Given the description of an element on the screen output the (x, y) to click on. 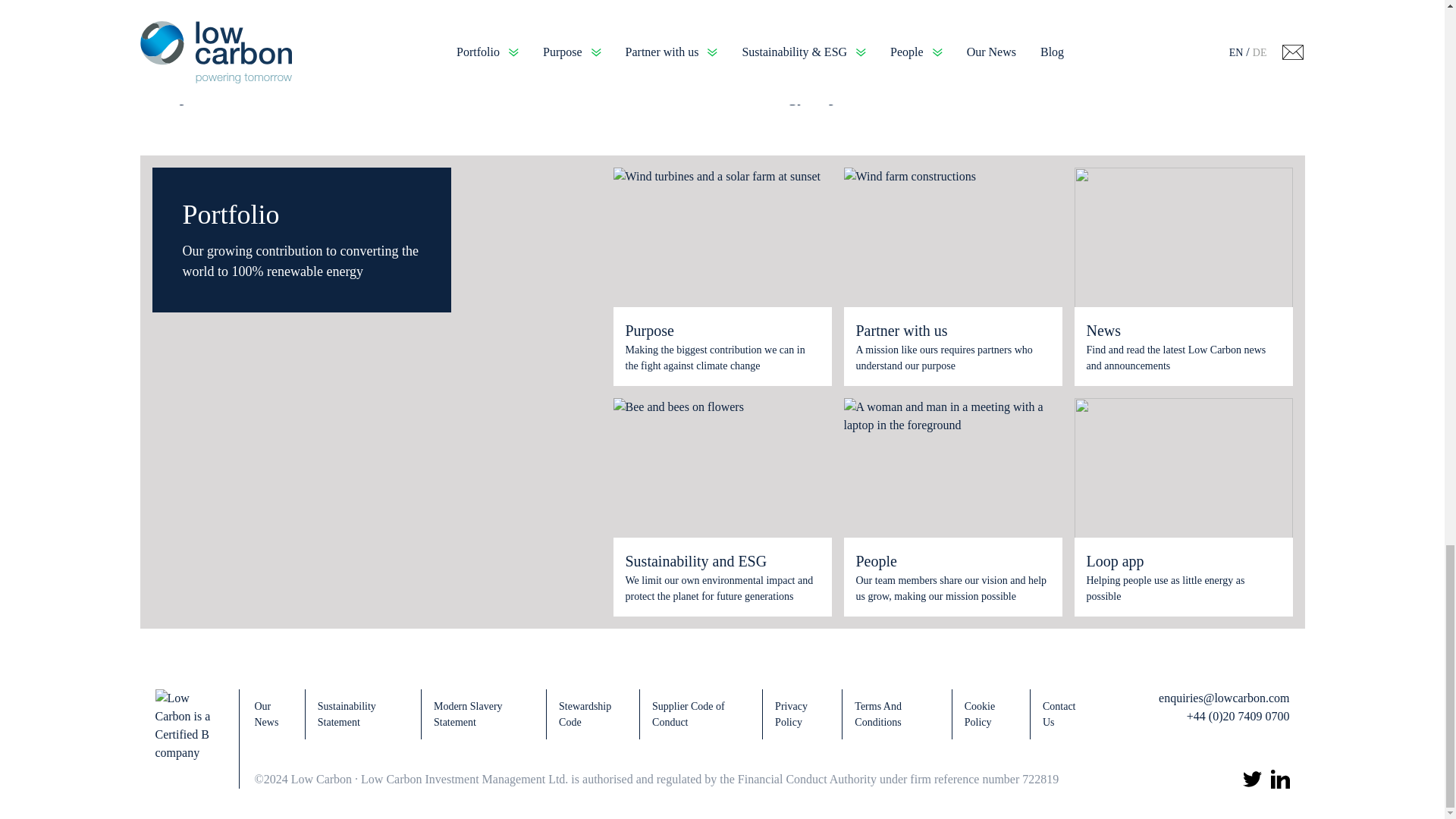
Partner with us (952, 330)
Purpose (721, 330)
Find and read the latest Low Carbon news and announcements (1182, 357)
News (1182, 330)
Sustainability and ESG (721, 560)
